Given the description of an element on the screen output the (x, y) to click on. 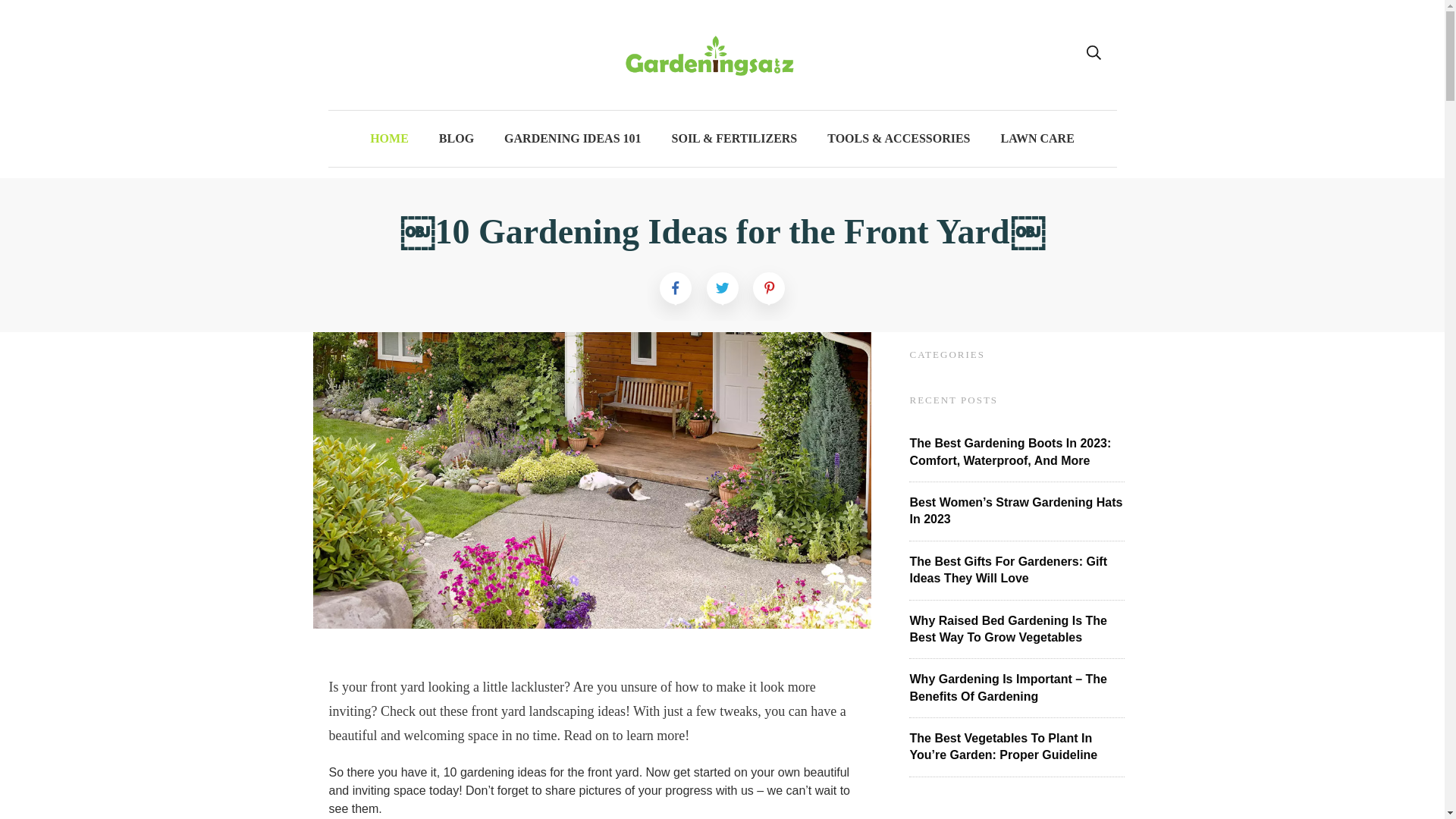
The Best Gifts For Gardeners: Gift Ideas They Will Love (1008, 569)
LAWN CARE (1037, 138)
HOME (389, 138)
The Best Gifts For Gardeners: Gift Ideas They Will Love (1008, 569)
Why Raised Bed Gardening Is The Best Way To Grow Vegetables (1009, 628)
GARDENING IDEAS 101 (571, 138)
BLOG (456, 138)
